Given the description of an element on the screen output the (x, y) to click on. 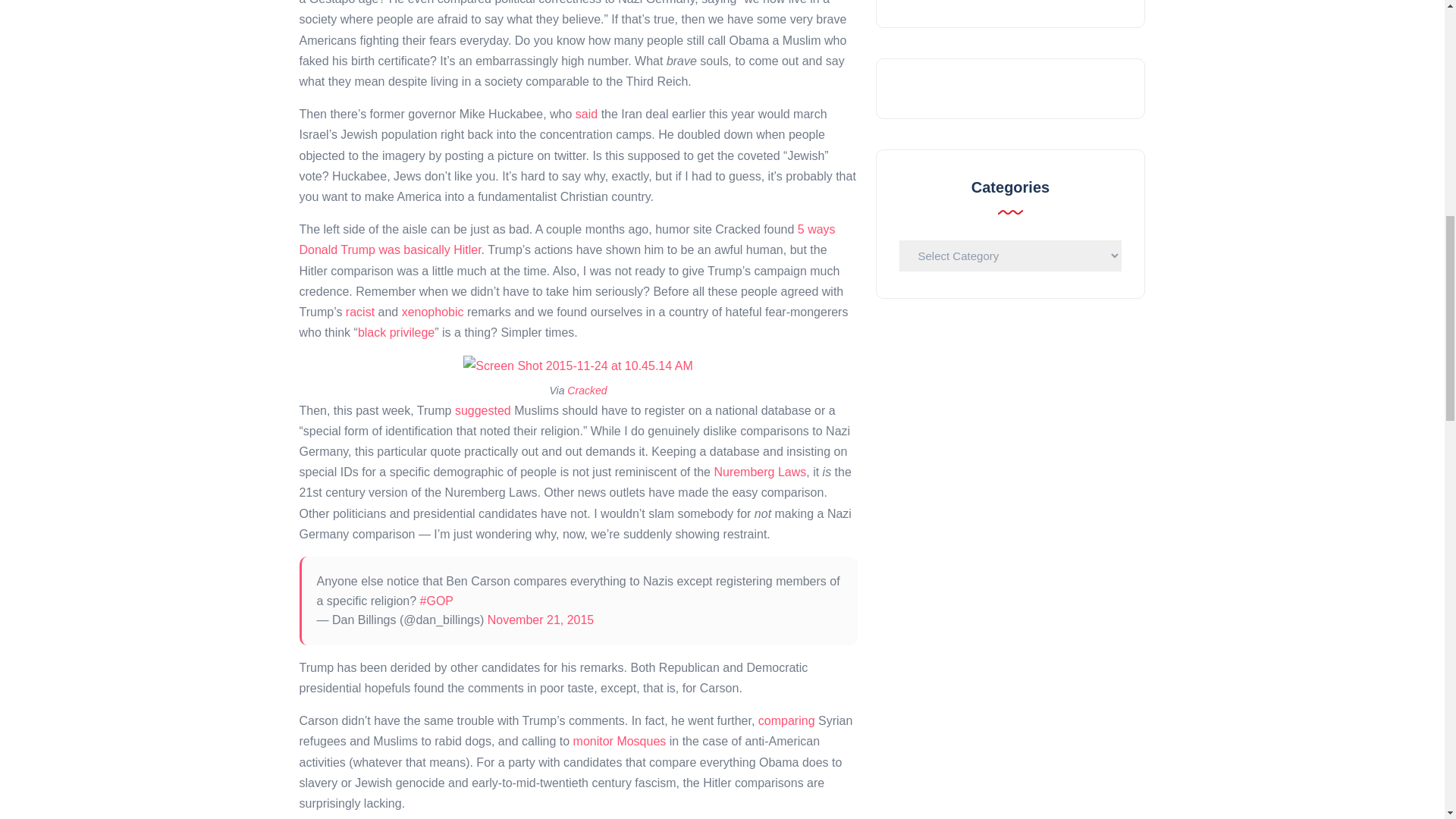
Cracked (587, 390)
Nuremberg Laws (759, 472)
monitor Mosques (619, 740)
racist (360, 311)
5 ways Donald Trump was basically Hitler (566, 239)
black privilege (395, 332)
suggested (482, 410)
xenophobic (432, 311)
said (585, 113)
comparing (786, 720)
November 21, 2015 (540, 619)
